Given the description of an element on the screen output the (x, y) to click on. 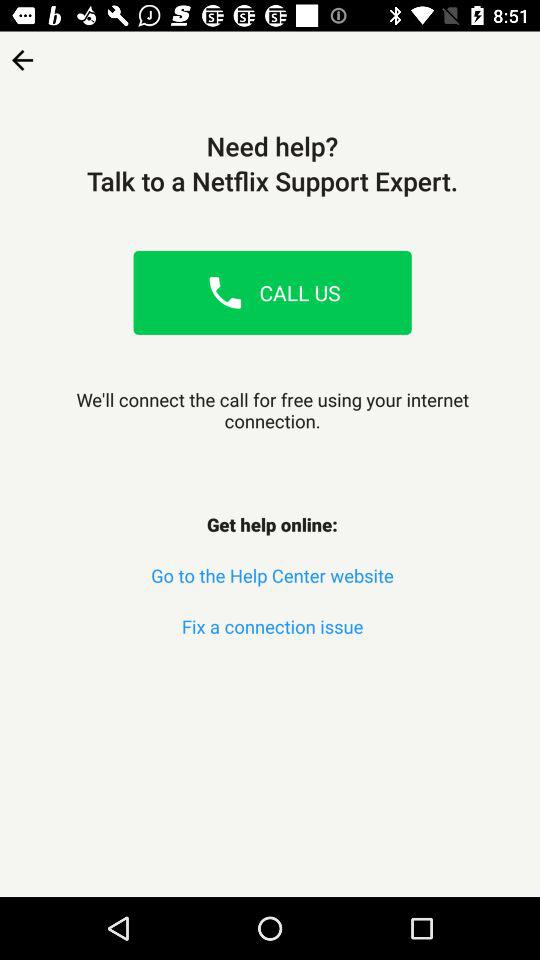
launch item above the we ll connect item (225, 292)
